Given the description of an element on the screen output the (x, y) to click on. 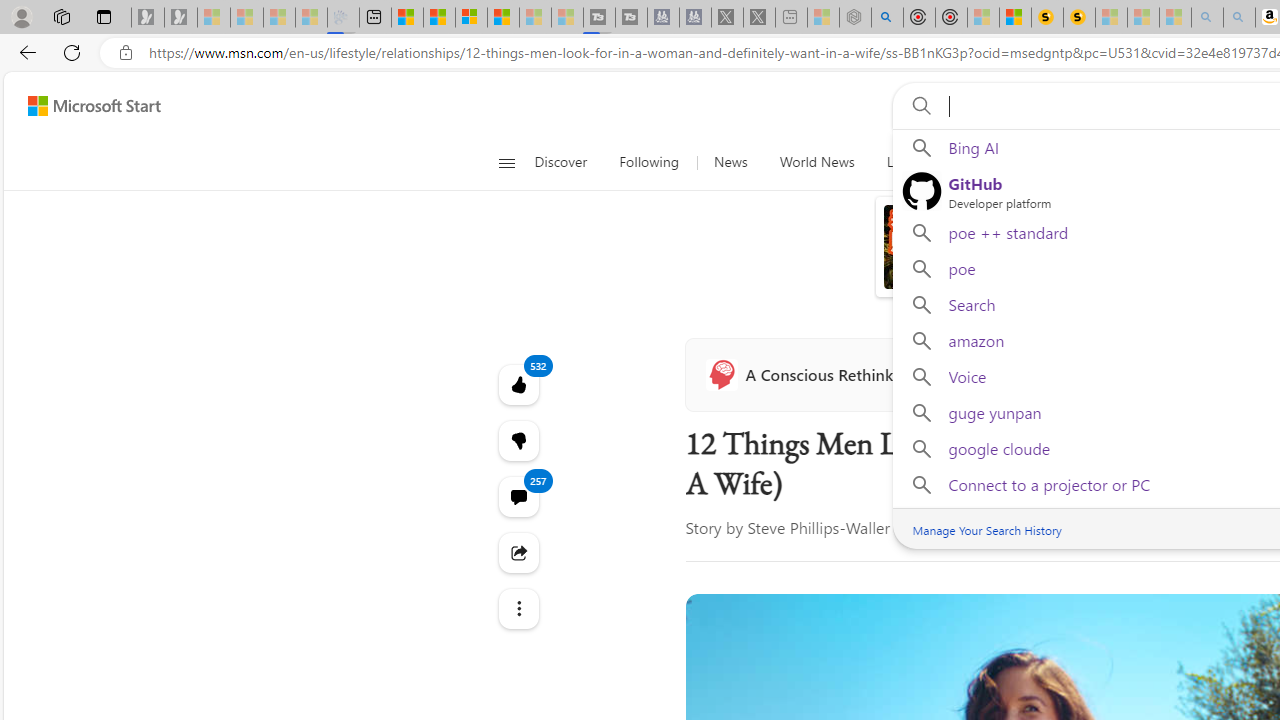
532 Like (517, 384)
Science (973, 162)
Manage Your Search History (986, 529)
